Given the description of an element on the screen output the (x, y) to click on. 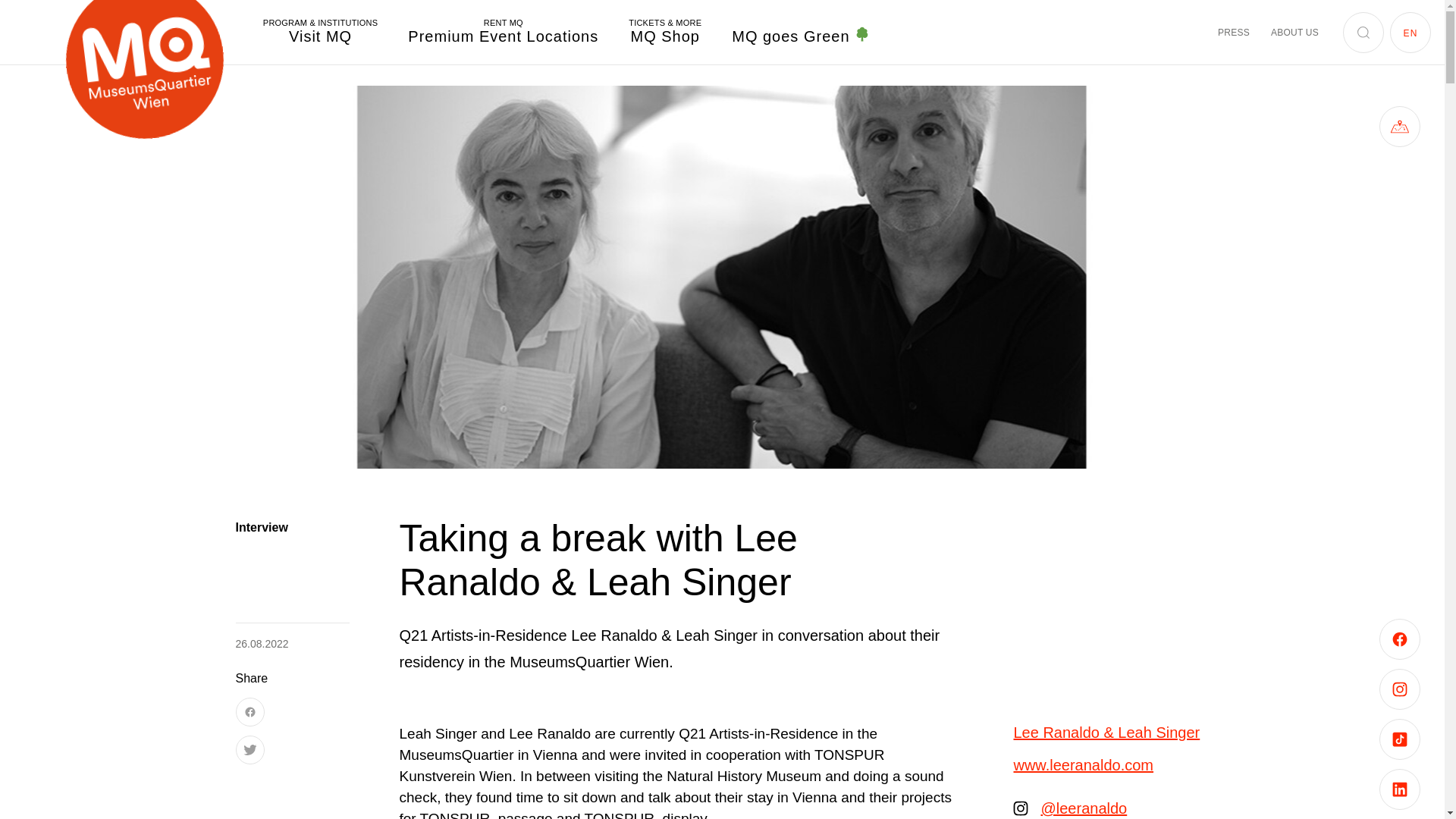
MQ Map (1399, 126)
Skip to content (502, 31)
